Given the description of an element on the screen output the (x, y) to click on. 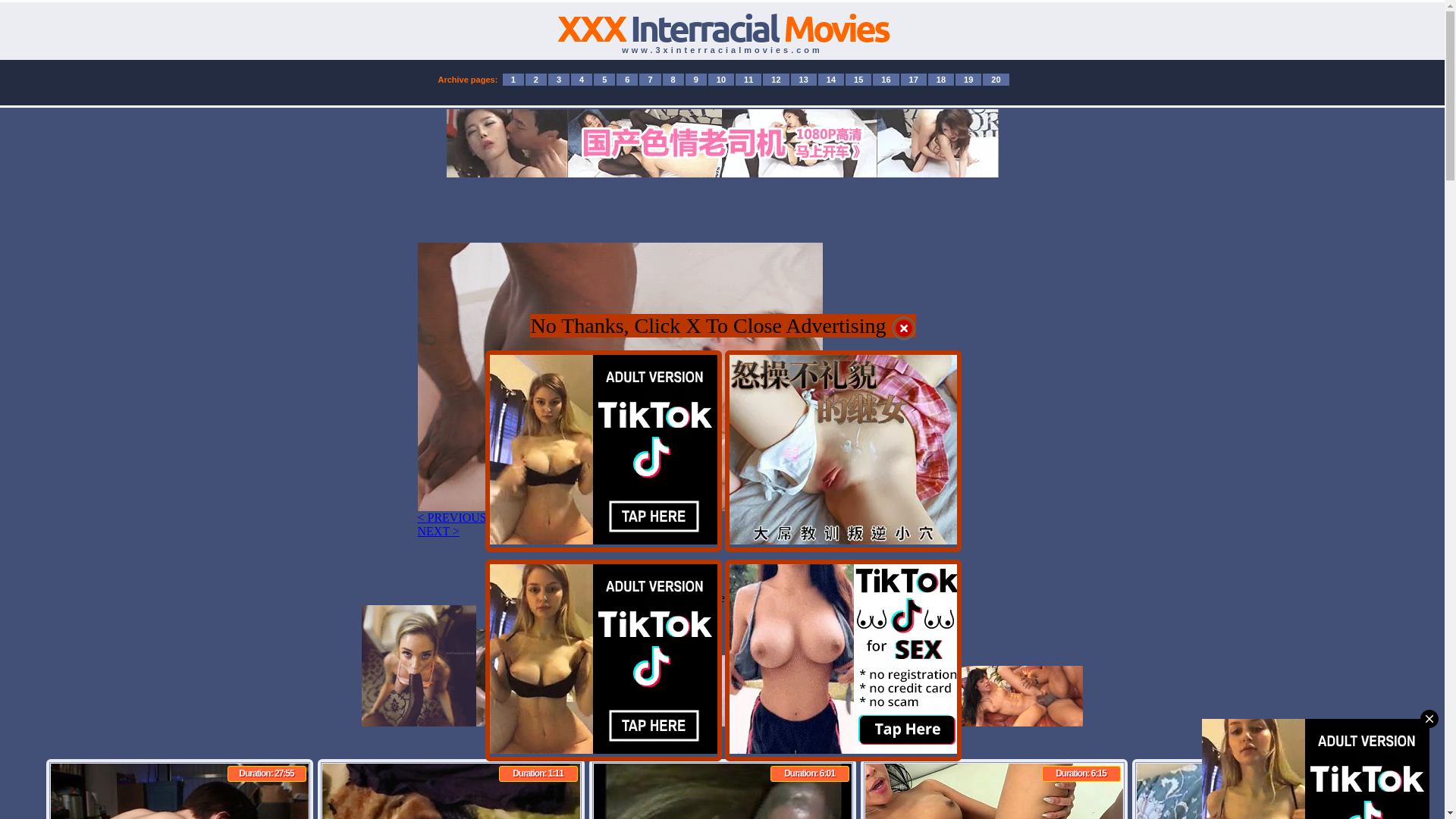
6 Element type: text (626, 79)
No Thanks, Click X To Close Advertising Element type: text (722, 328)
17 Element type: text (913, 79)
NEXT > Element type: text (437, 530)
20 Element type: text (995, 79)
16 Element type: text (885, 79)
14 Element type: text (831, 79)
12 Element type: text (775, 79)
< PREVIOUS Element type: text (451, 517)
13 Element type: text (803, 79)
11 Element type: text (748, 79)
9 Element type: text (695, 79)
1 Element type: text (513, 79)
19 Element type: text (968, 79)
18 Element type: text (940, 79)
2 Element type: text (535, 79)
4 Element type: text (581, 79)
10 Element type: text (721, 79)
3 Element type: text (558, 79)
15 Element type: text (858, 79)
5 Element type: text (604, 79)
7 Element type: text (649, 79)
8 Element type: text (673, 79)
